Given the description of an element on the screen output the (x, y) to click on. 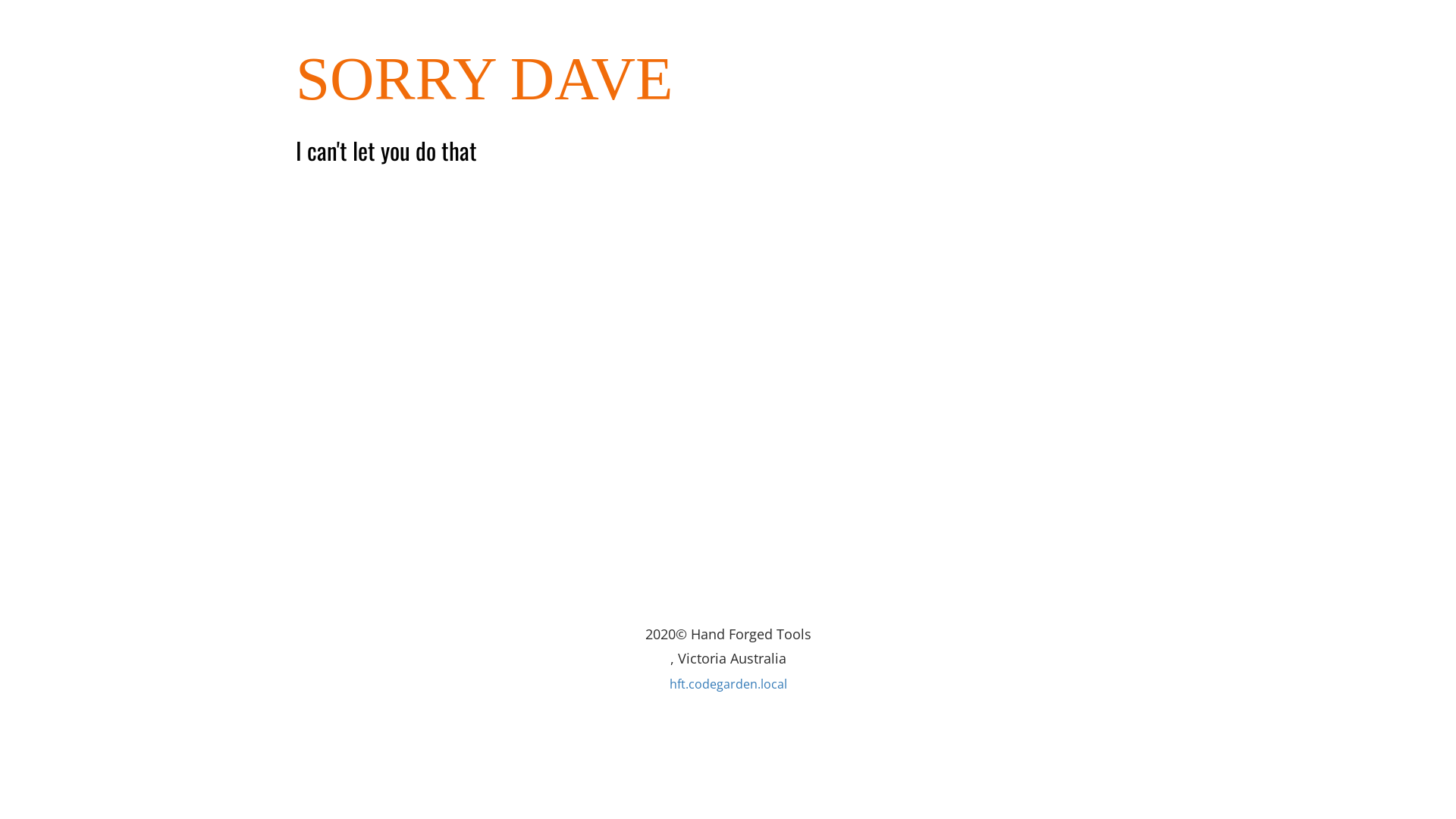
hft.codegarden.local Element type: text (727, 683)
Continue ... Element type: text (331, 246)
